Given the description of an element on the screen output the (x, y) to click on. 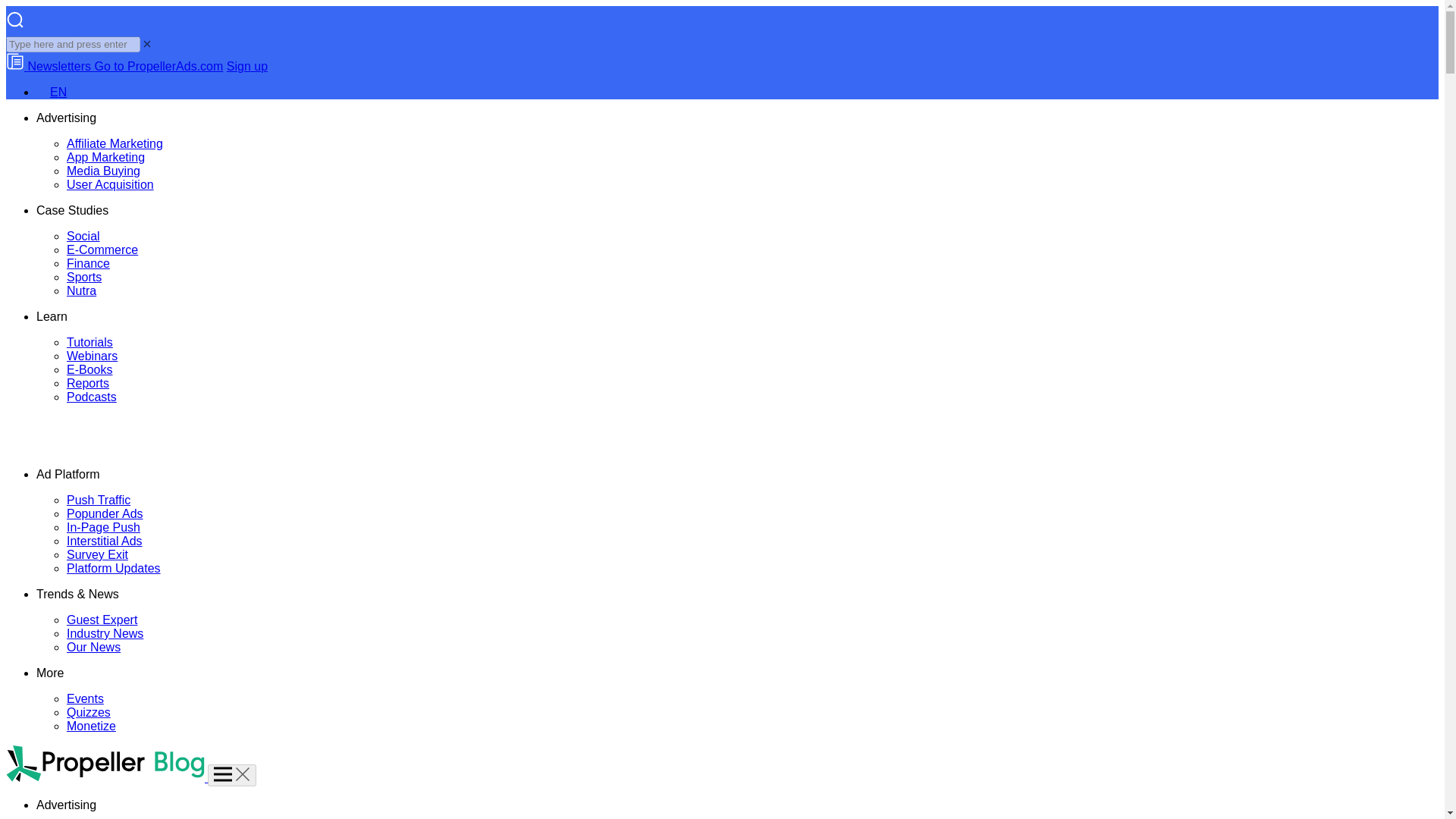
Interstitial Ads (104, 540)
E-Commerce (102, 249)
Podcasts (91, 396)
User Acquisition (110, 184)
Webinars (91, 355)
Social (83, 236)
Survey Exit (97, 554)
Finance (88, 263)
Industry News (104, 633)
Nutra (81, 290)
Affiliate Marketing (114, 143)
Events (84, 698)
E-Books (89, 369)
PropellerAds Blog main page. (105, 448)
Sign up (247, 65)
